Given the description of an element on the screen output the (x, y) to click on. 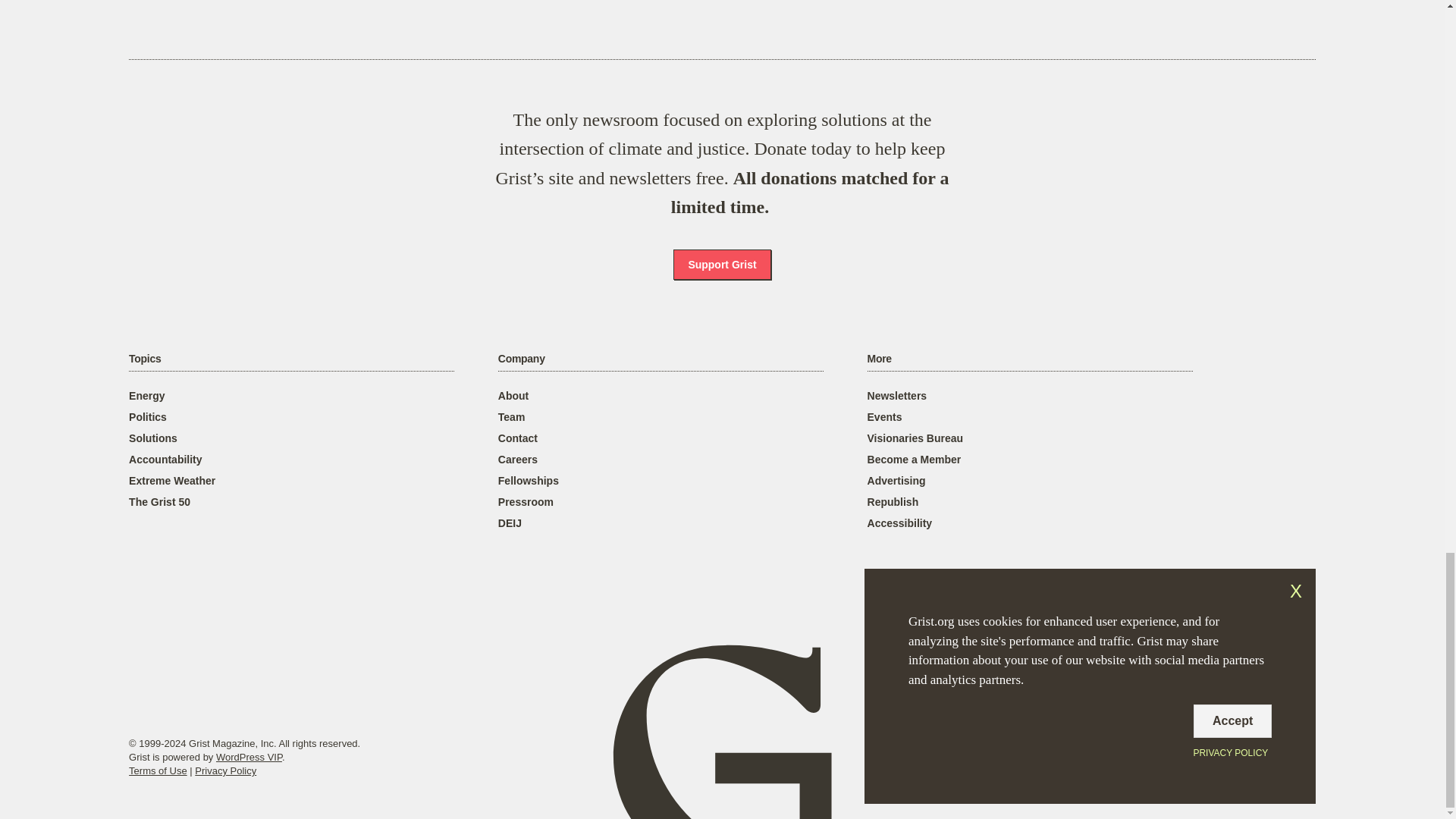
Topics (144, 358)
Company (520, 358)
More (879, 358)
